Given the description of an element on the screen output the (x, y) to click on. 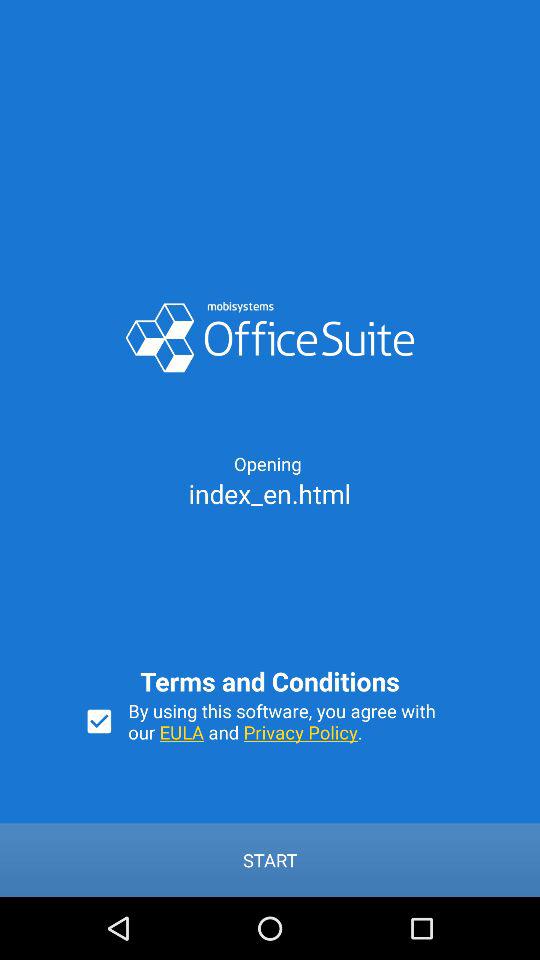
tap item next to the by using this item (99, 721)
